Given the description of an element on the screen output the (x, y) to click on. 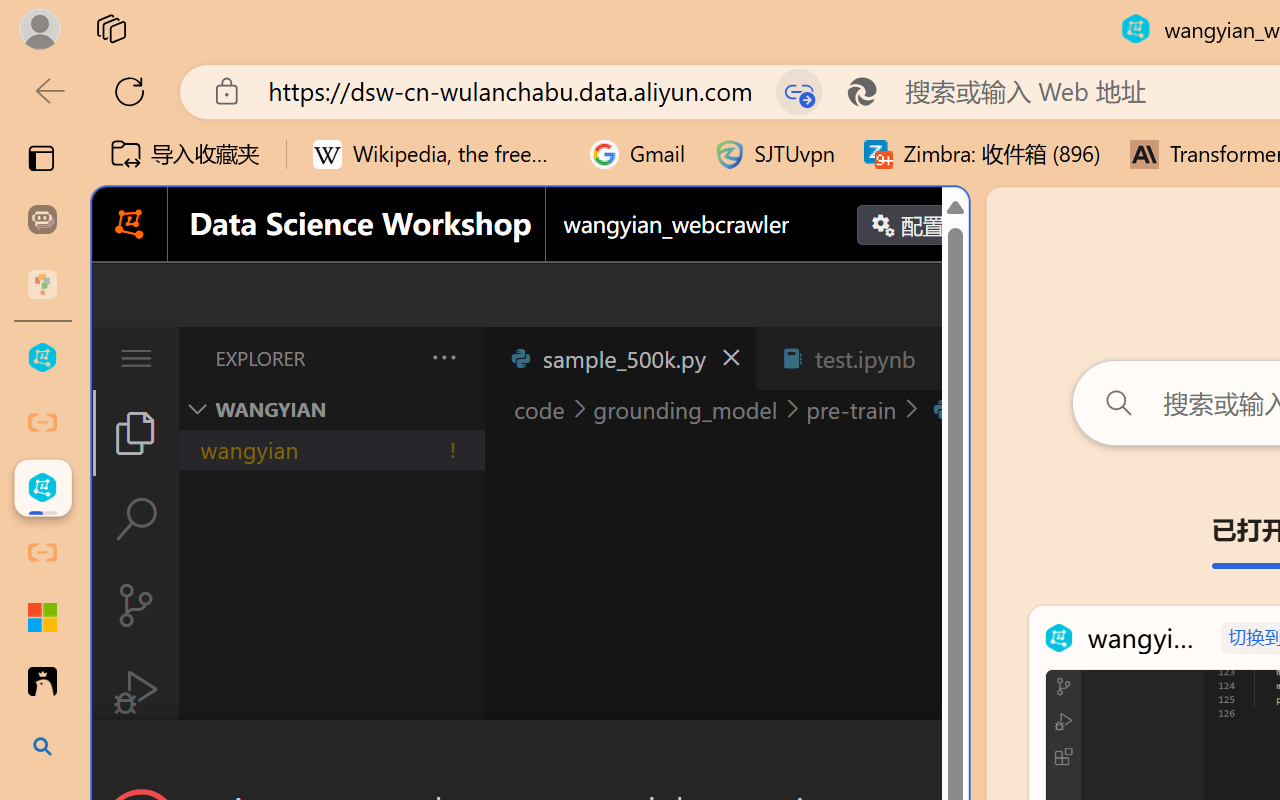
Explorer actions (391, 358)
Class: menubar compact overflow-menu-only (135, 358)
test.ipynb (864, 358)
Wikipedia, the free encyclopedia (437, 154)
Application Menu (135, 358)
sample_500k.py (619, 358)
